Given the description of an element on the screen output the (x, y) to click on. 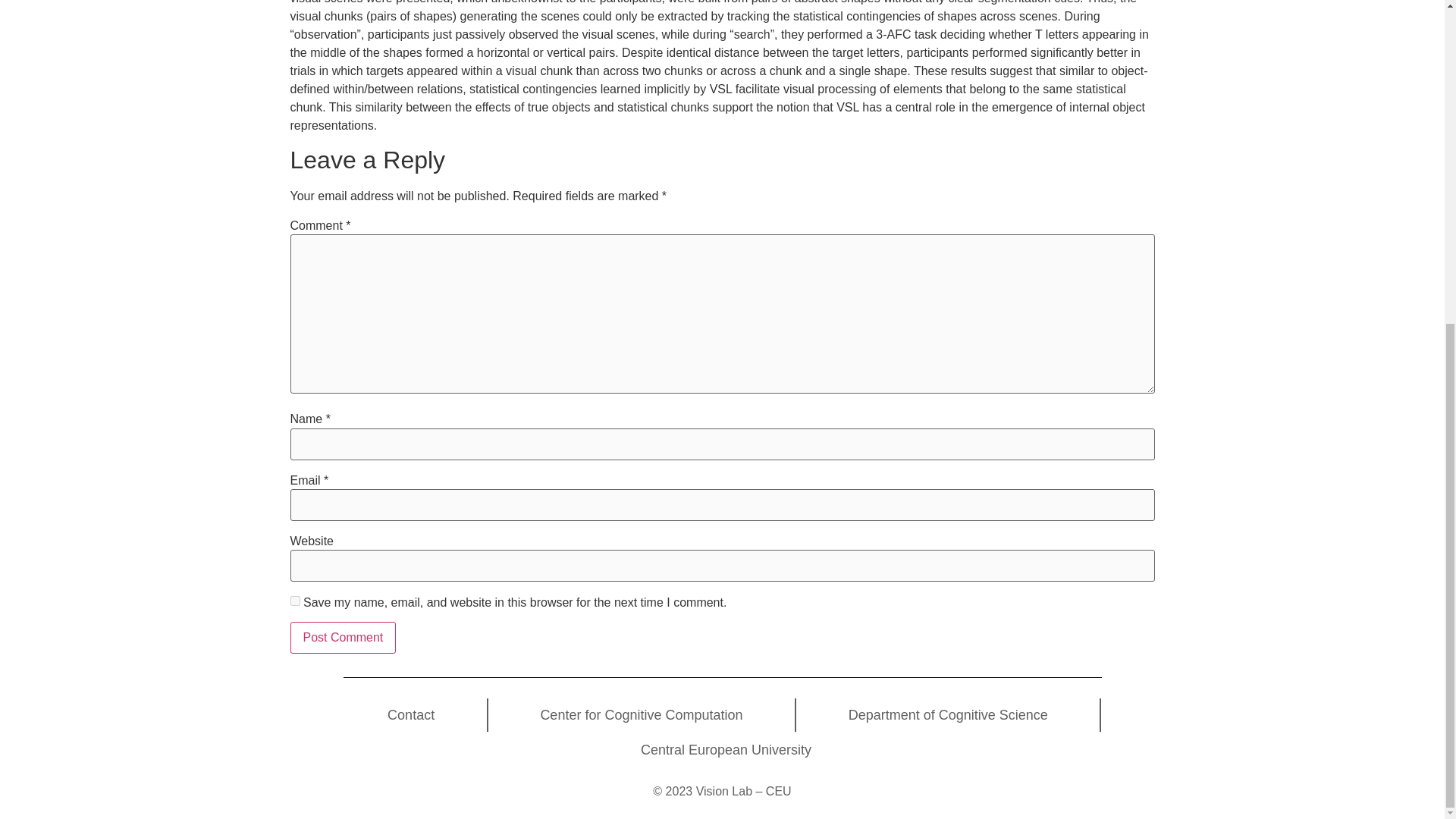
Post Comment (342, 637)
Department of Cognitive Science (947, 714)
Post Comment (342, 637)
Contact (410, 714)
Center for Cognitive Computation (641, 714)
Central European University (725, 749)
yes (294, 601)
